Given the description of an element on the screen output the (x, y) to click on. 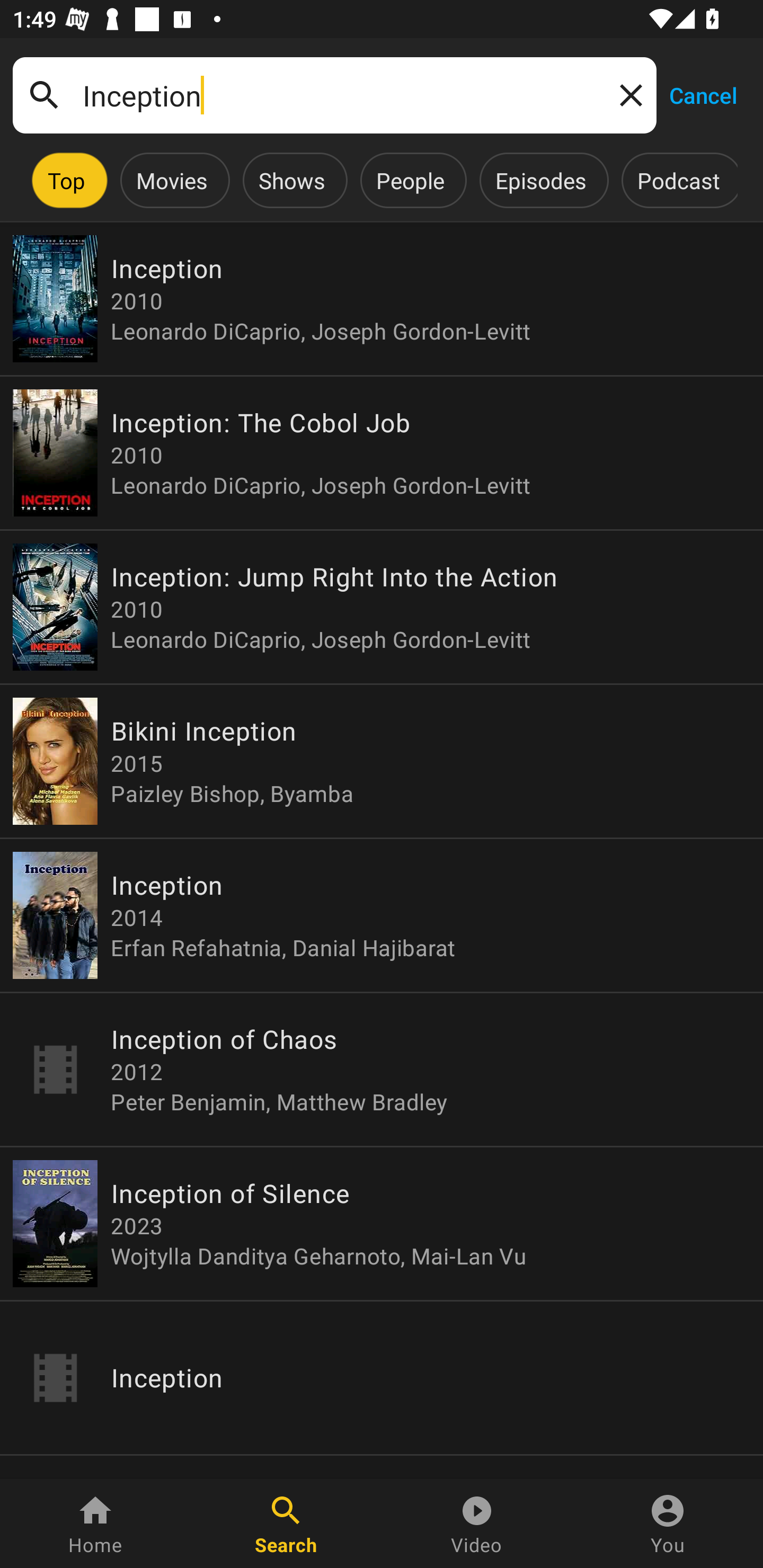
Clear query (627, 94)
Cancel (703, 94)
Inception (334, 95)
Top (66, 180)
Movies (171, 180)
Shows (291, 180)
People (410, 180)
Episodes (540, 180)
Podcast (678, 180)
Bikini Inception 2015 Paizley Bishop, Byamba (381, 761)
Inception 2014 Erfan Refahatnia, Danial Hajibarat (381, 914)
Inception (381, 1377)
Home (95, 1523)
Video (476, 1523)
You (667, 1523)
